Given the description of an element on the screen output the (x, y) to click on. 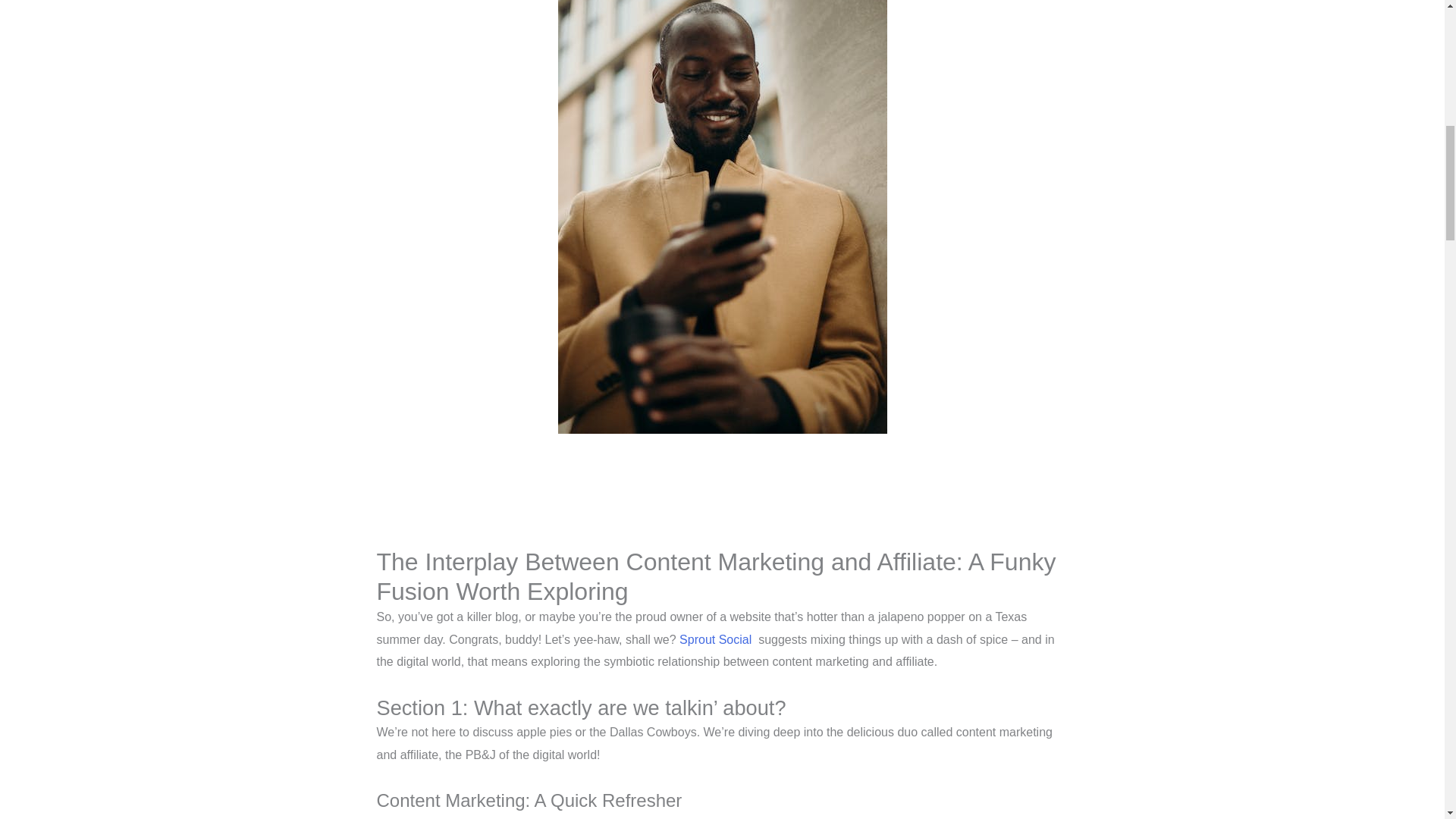
Sprout Social (715, 639)
